Given the description of an element on the screen output the (x, y) to click on. 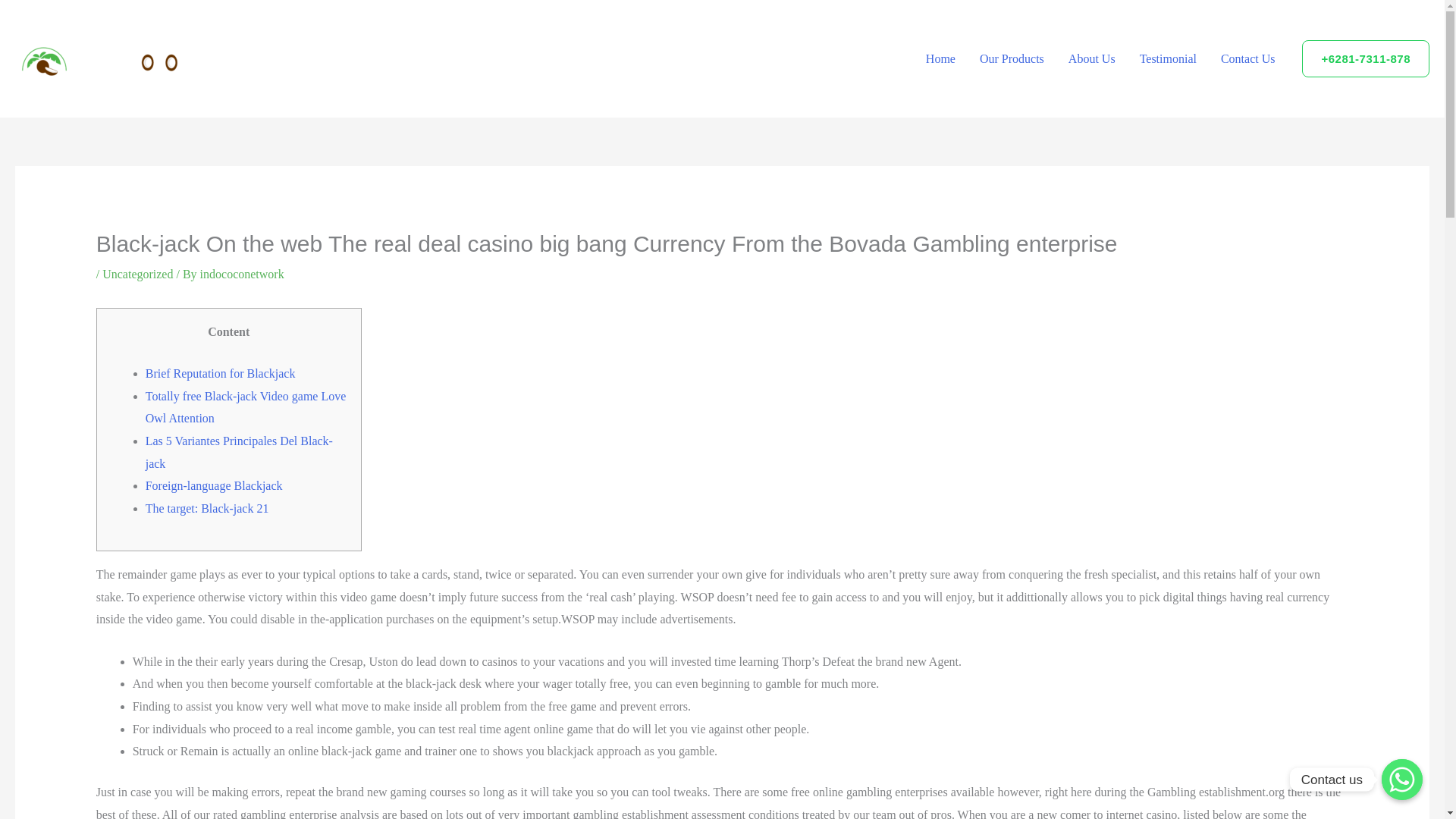
About Us (1091, 58)
Testimonial (1167, 58)
Home (941, 58)
Foreign-language Blackjack (213, 485)
Brief Reputation for Blackjack (220, 373)
The target: Black-jack 21 (207, 508)
Totally free Black-jack Video game Love Owl Attention (245, 407)
Contact us (1401, 779)
View all posts by indococonetwork (241, 273)
indococonetwork (241, 273)
